Given the description of an element on the screen output the (x, y) to click on. 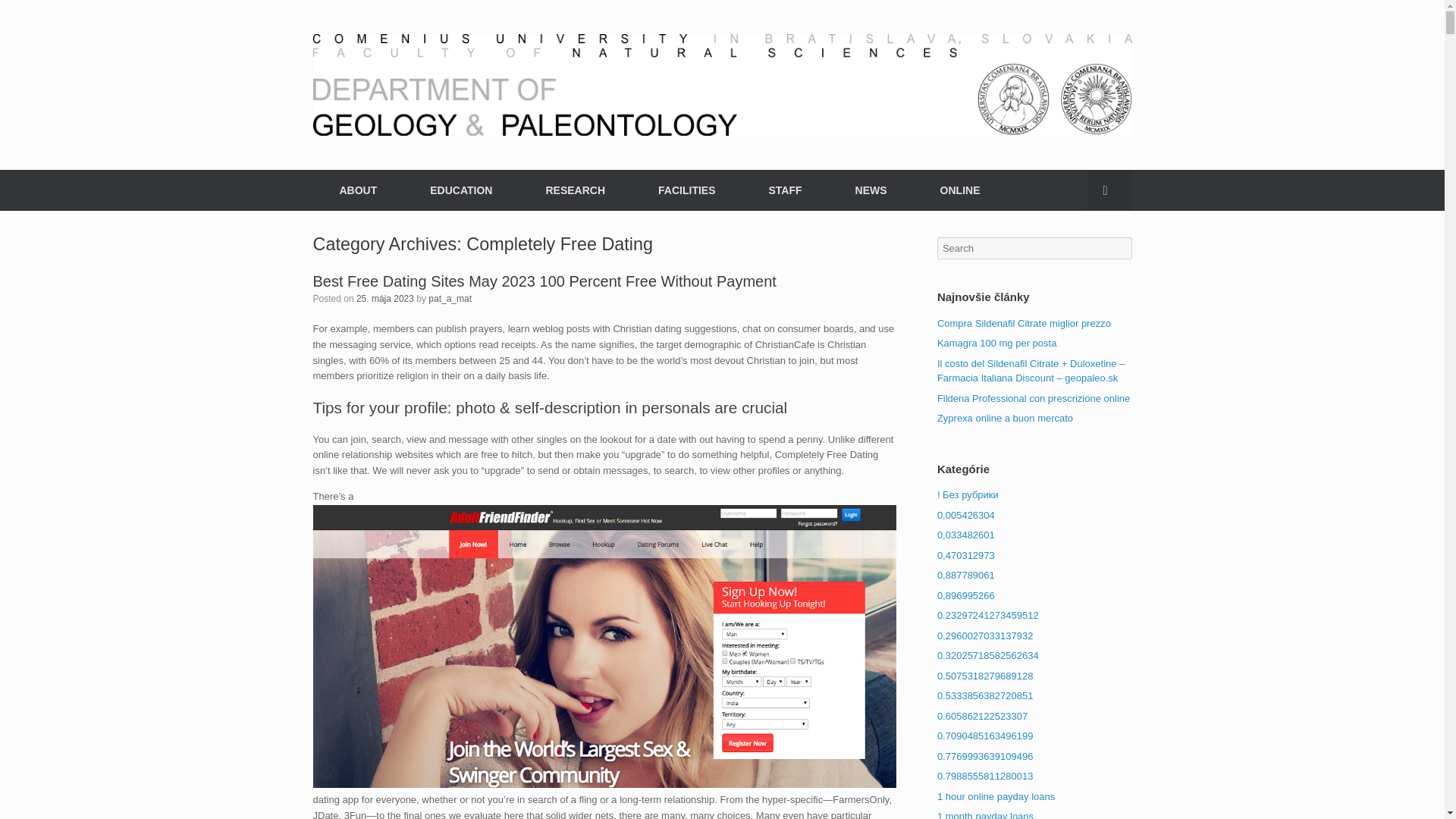
STAFF (784, 189)
ABOUT (358, 189)
RESEARCH (574, 189)
FACILITIES (686, 189)
11:17 (384, 297)
EDUCATION (460, 189)
